Given the description of an element on the screen output the (x, y) to click on. 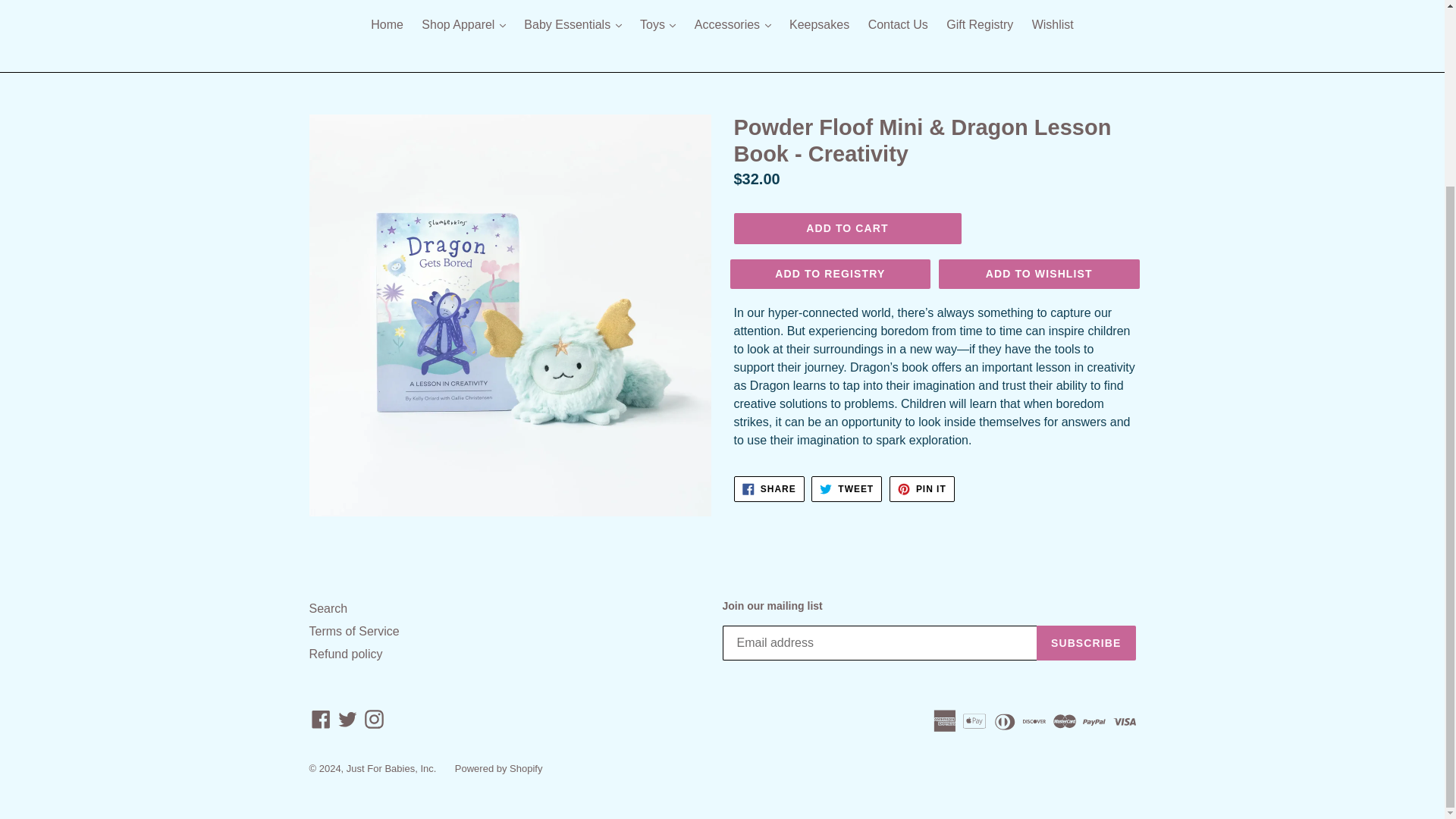
Just For Babies, Inc. on Instagram (373, 719)
Tweet on Twitter (846, 488)
Just For Babies, Inc. on Facebook (320, 719)
Add to Registry (829, 274)
Just For Babies, Inc. on Twitter (347, 719)
Share on Facebook (769, 488)
Pin on Pinterest (922, 488)
Add to Wishlist (1039, 274)
